Given the description of an element on the screen output the (x, y) to click on. 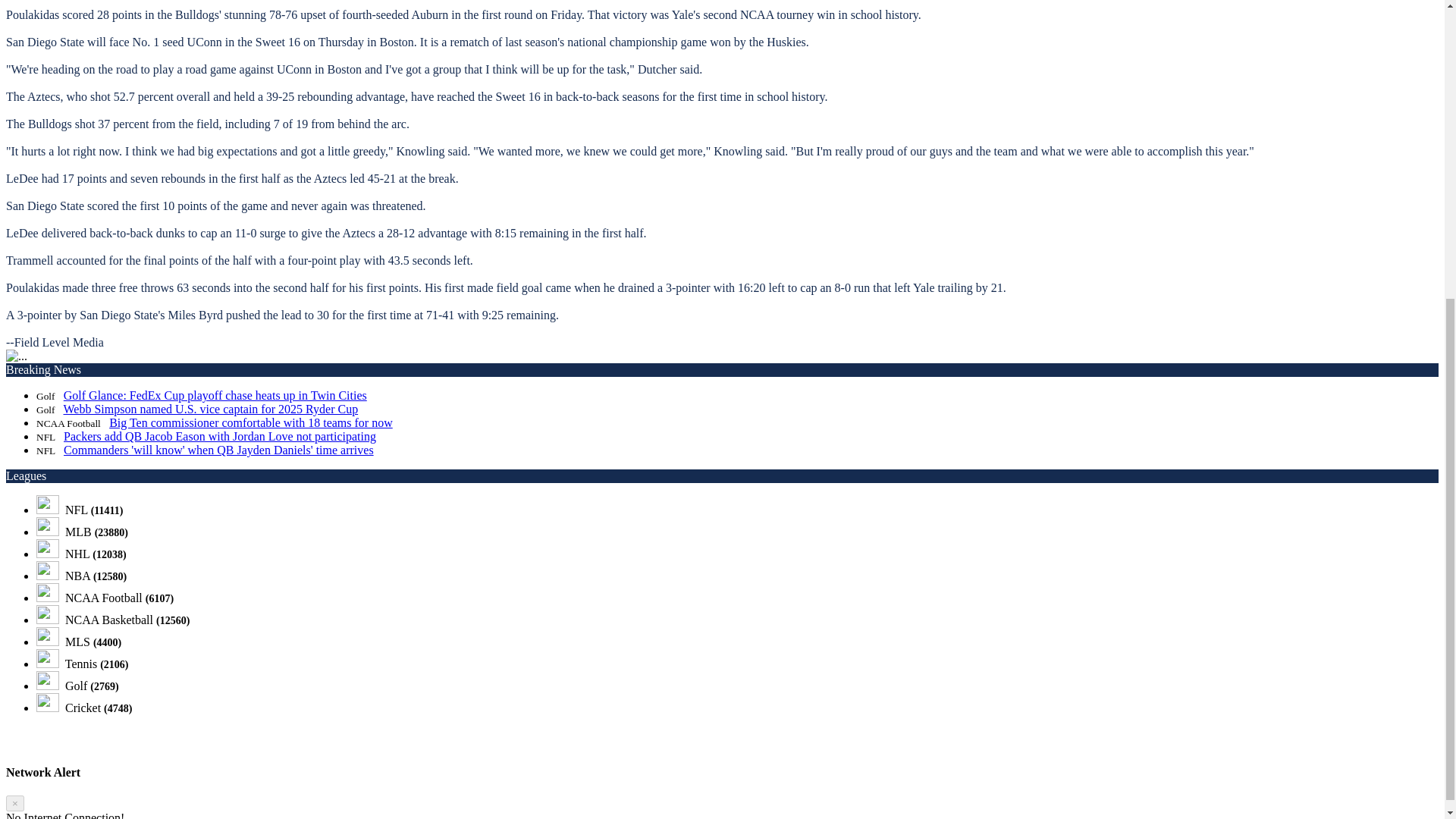
Commanders 'will know' when QB Jayden Daniels' time arrives (219, 449)
Webb Simpson named U.S. vice captain for 2025 Ryder Cup (210, 408)
Golf Glance: FedEx Cup playoff chase heats up in Twin Cities (215, 395)
Big Ten commissioner comfortable with 18 teams for now (251, 422)
